Given the description of an element on the screen output the (x, y) to click on. 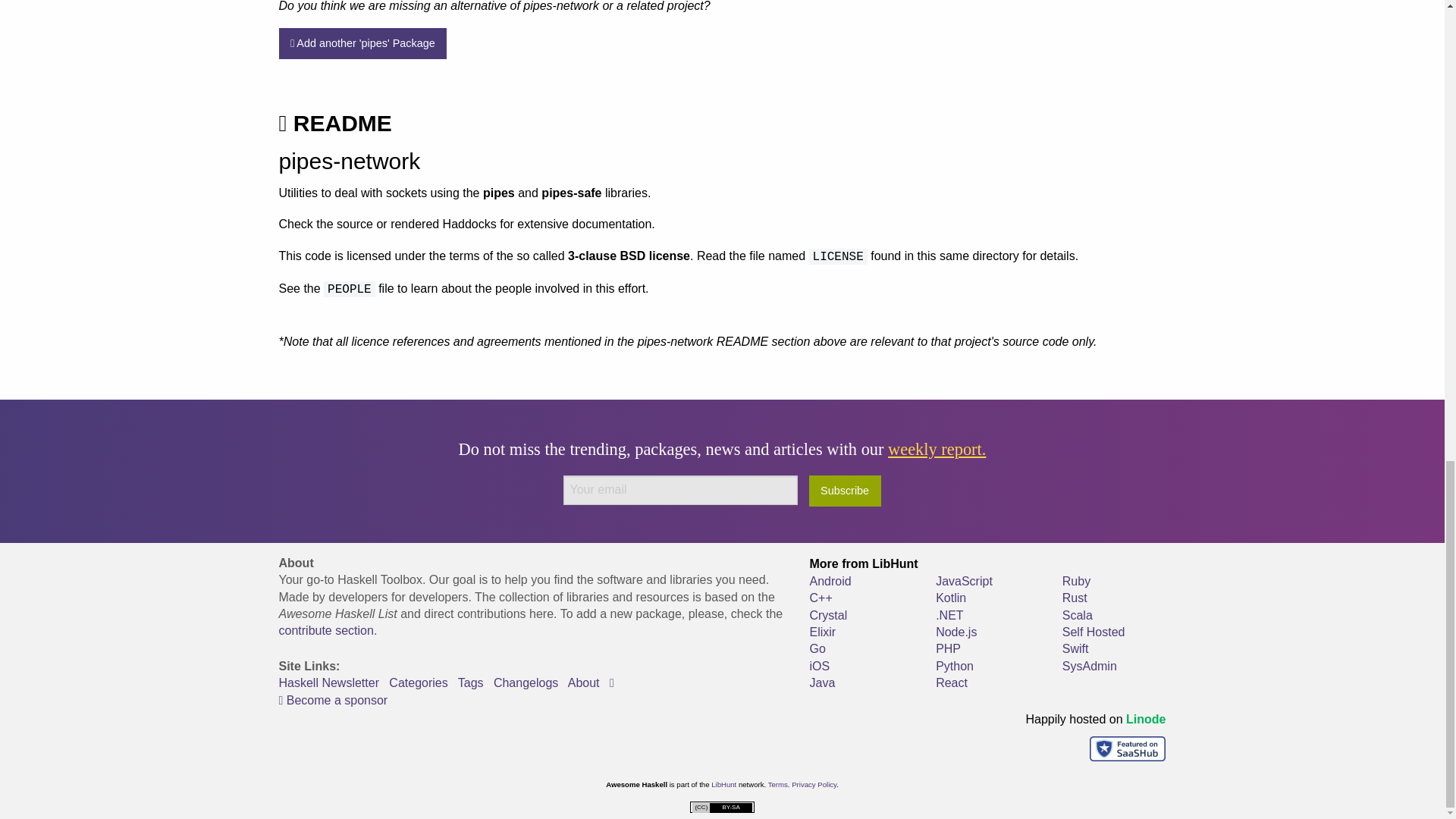
Subscribe (844, 490)
